Given the description of an element on the screen output the (x, y) to click on. 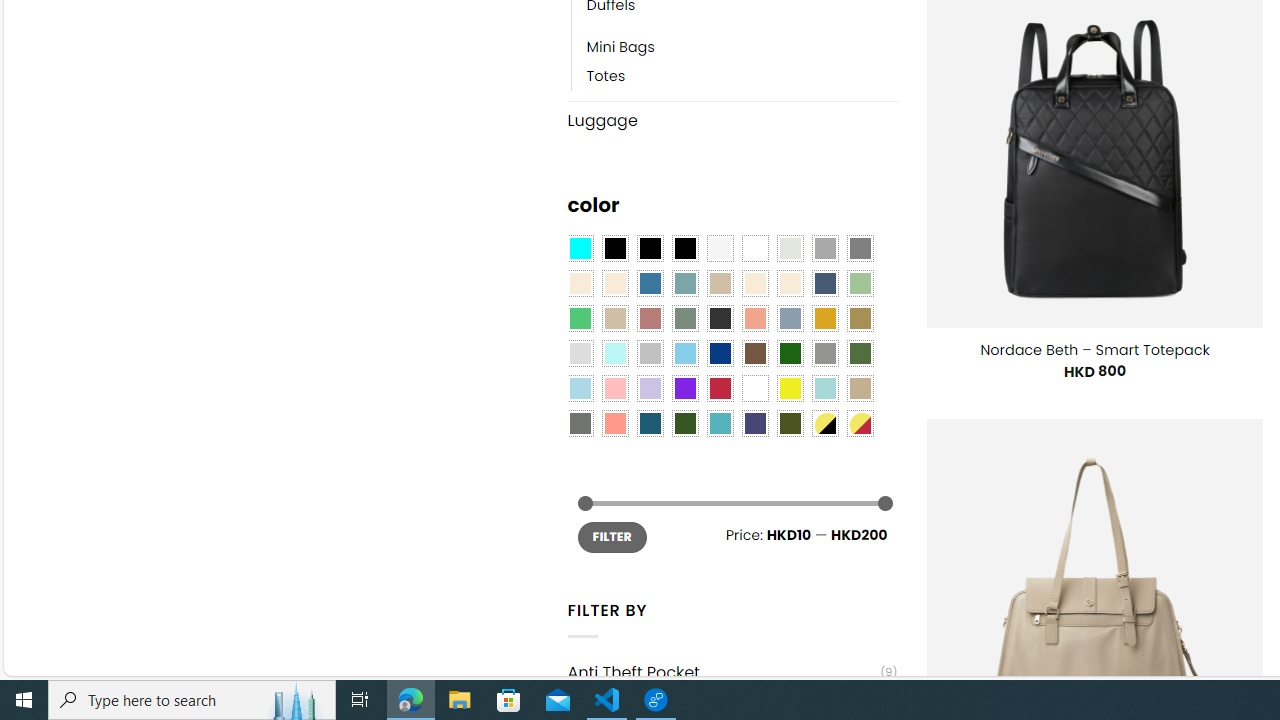
Dusty Blue (789, 318)
Luggage (732, 120)
Yellow (789, 388)
Mini Bags (742, 48)
